Given the description of an element on the screen output the (x, y) to click on. 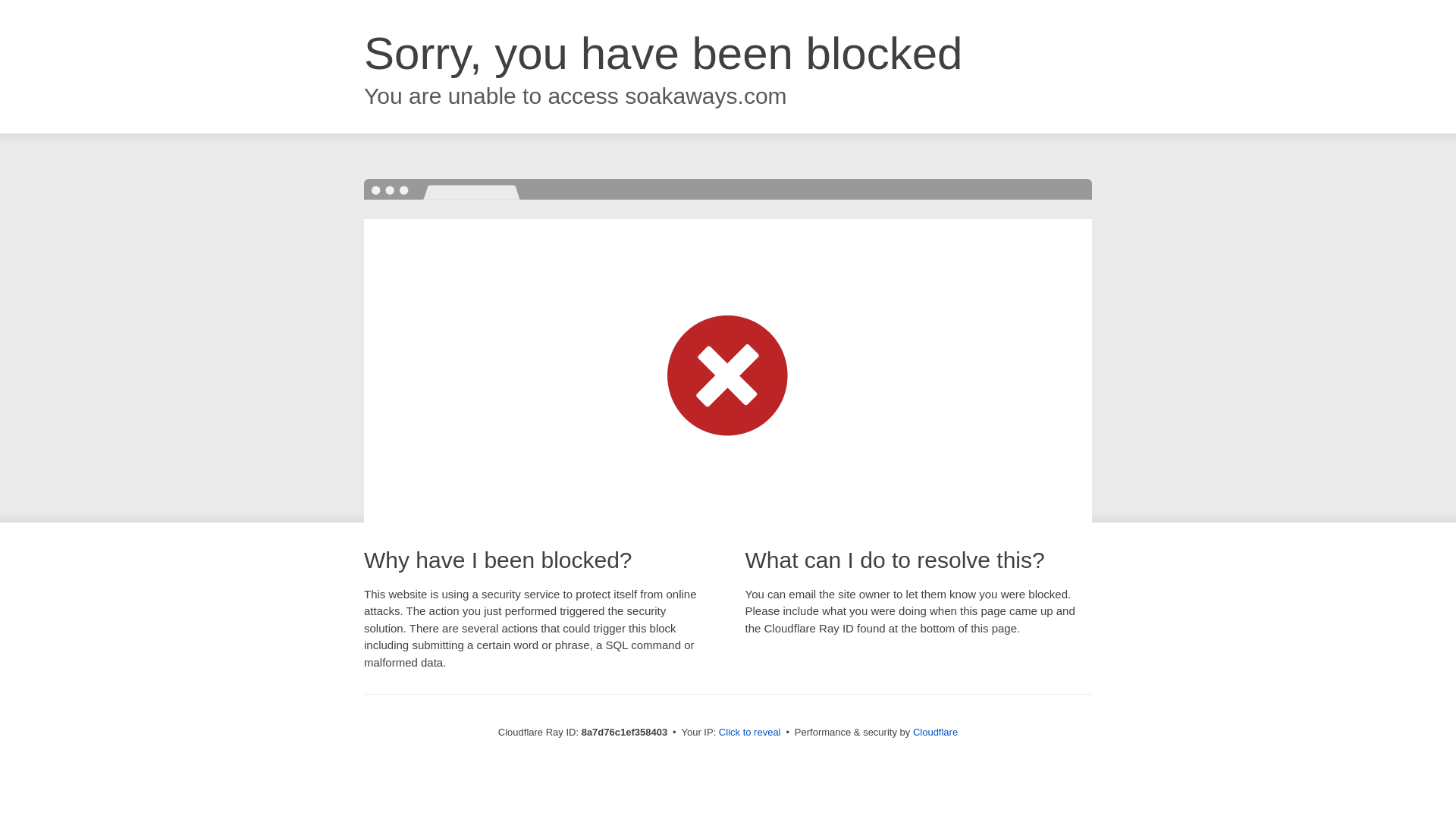
Cloudflare (935, 731)
Click to reveal (749, 732)
